Given the description of an element on the screen output the (x, y) to click on. 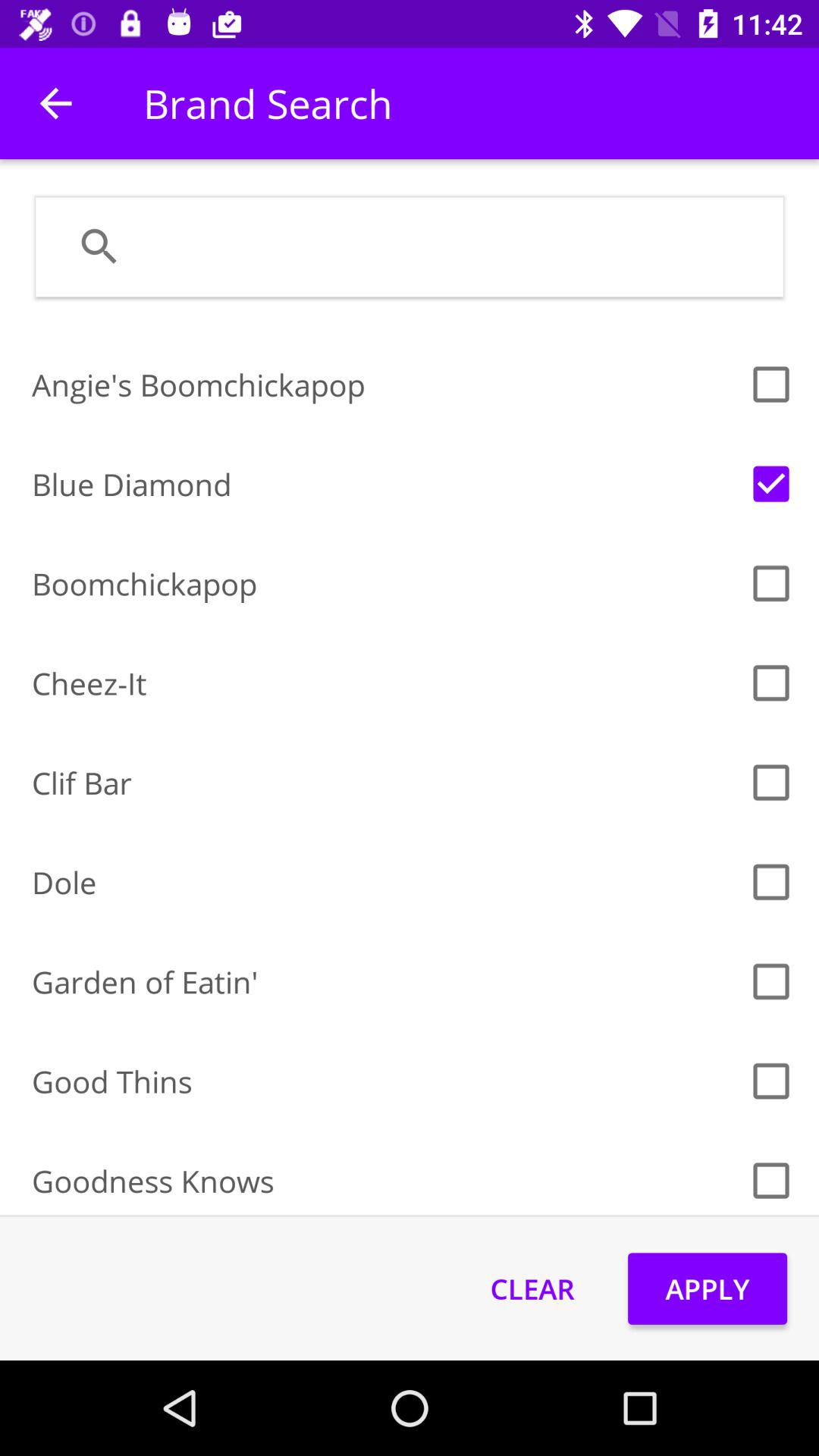
search section (449, 246)
